Given the description of an element on the screen output the (x, y) to click on. 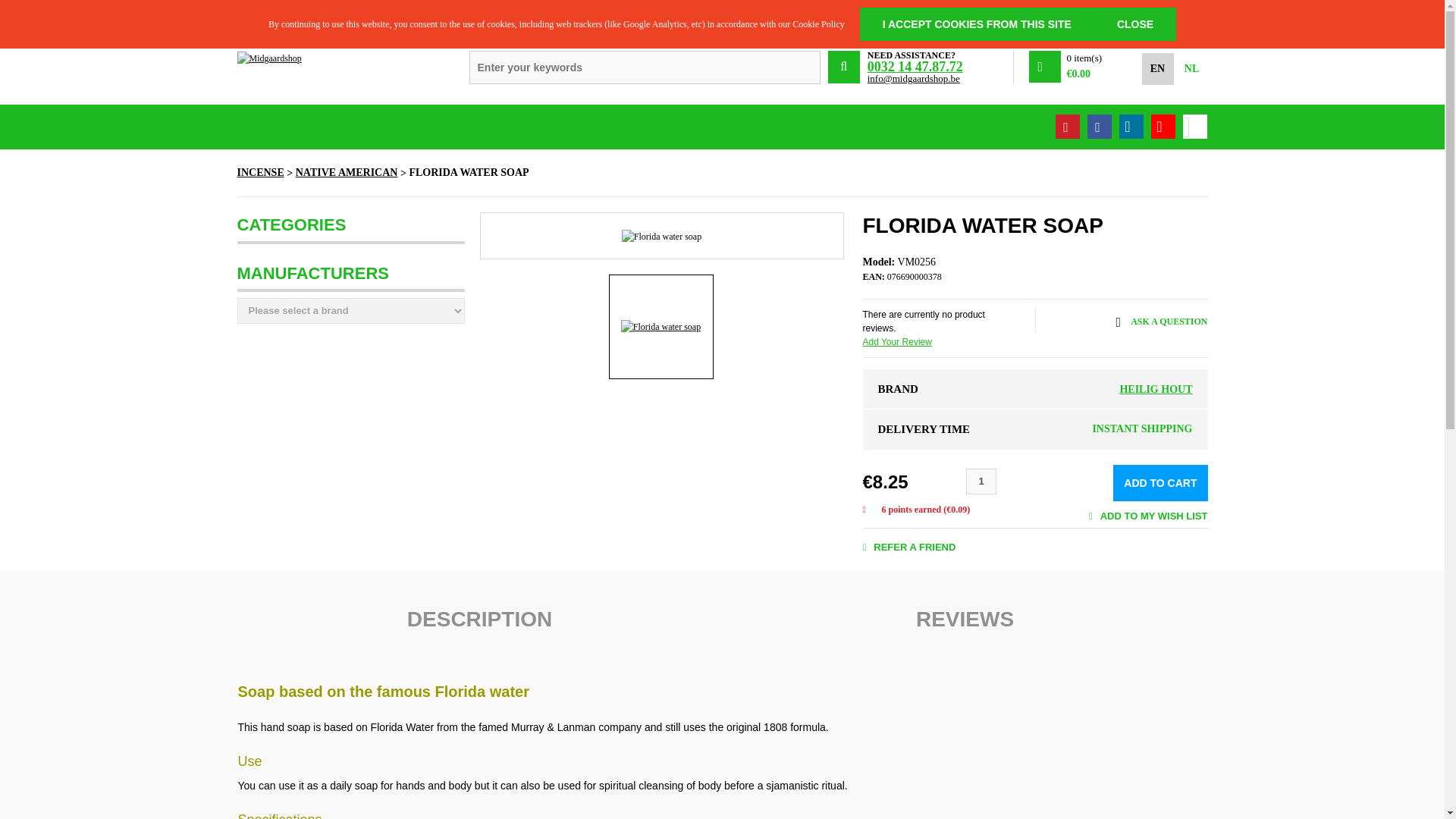
Florida water soap (660, 326)
Florida water soap (661, 236)
Heilig Hout (1155, 389)
1 (980, 481)
Florida water soap (660, 326)
